Given the description of an element on the screen output the (x, y) to click on. 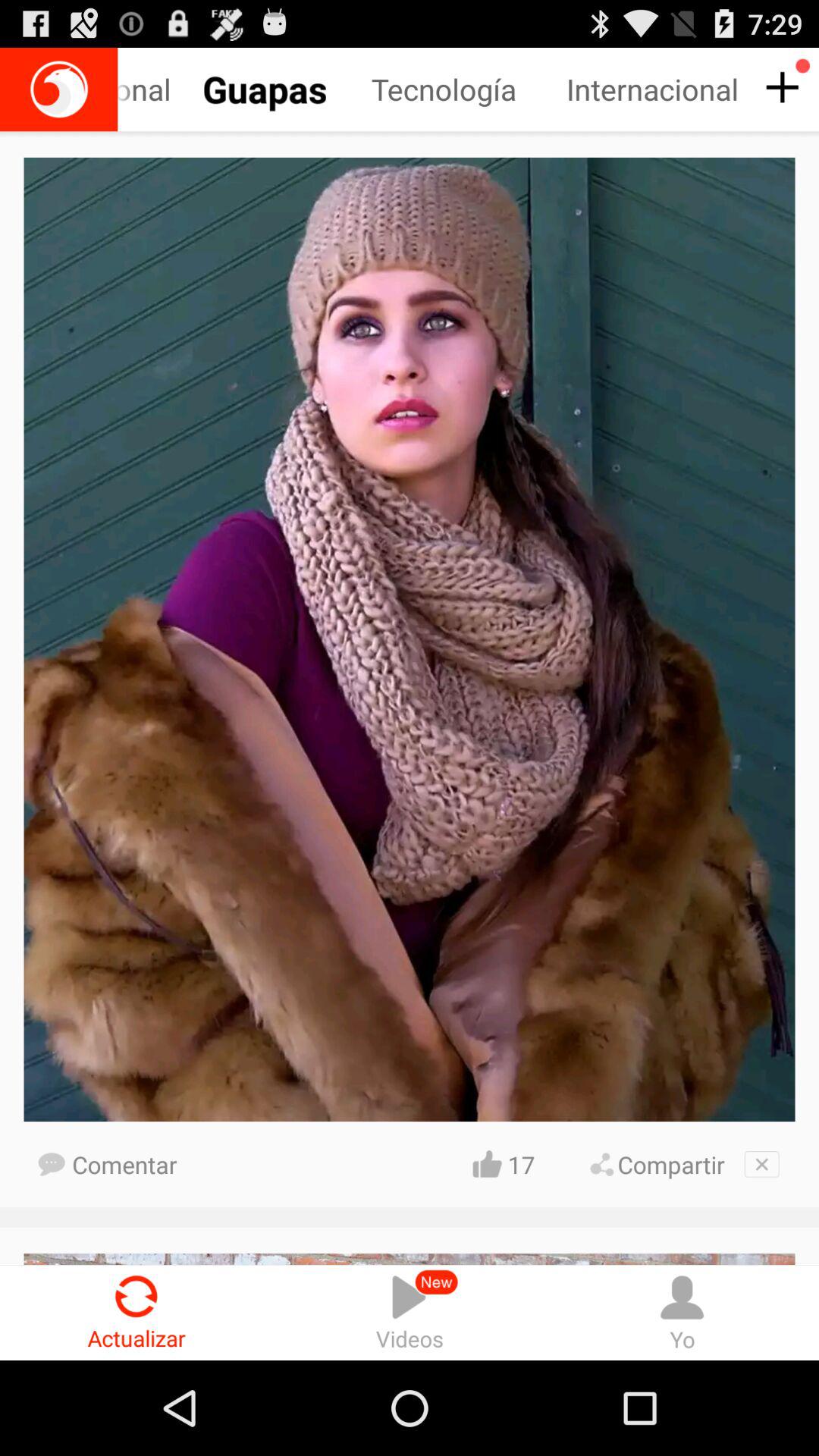
close option (761, 1164)
